Given the description of an element on the screen output the (x, y) to click on. 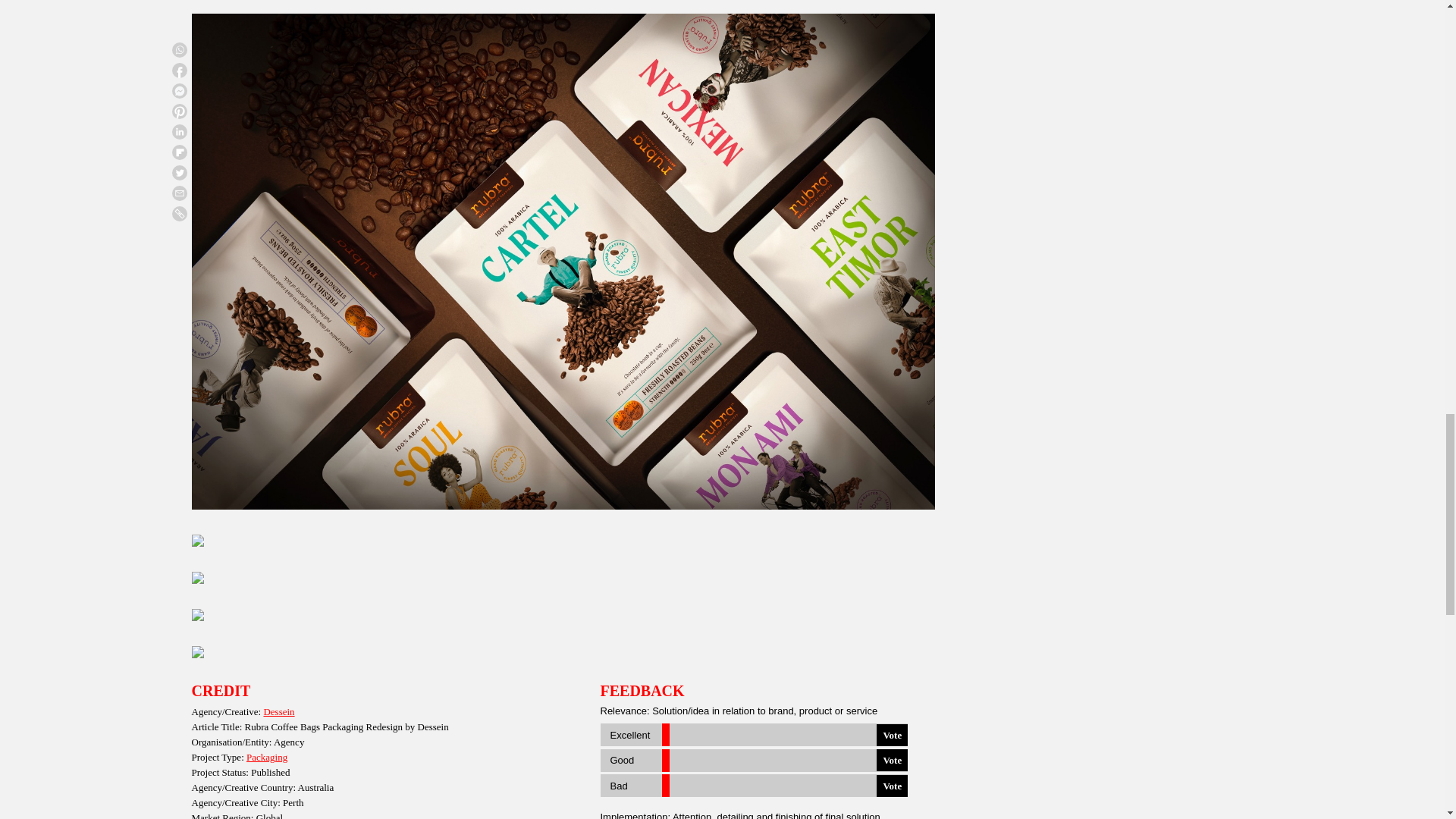
Packaging (266, 756)
Dessein (278, 711)
